Given the description of an element on the screen output the (x, y) to click on. 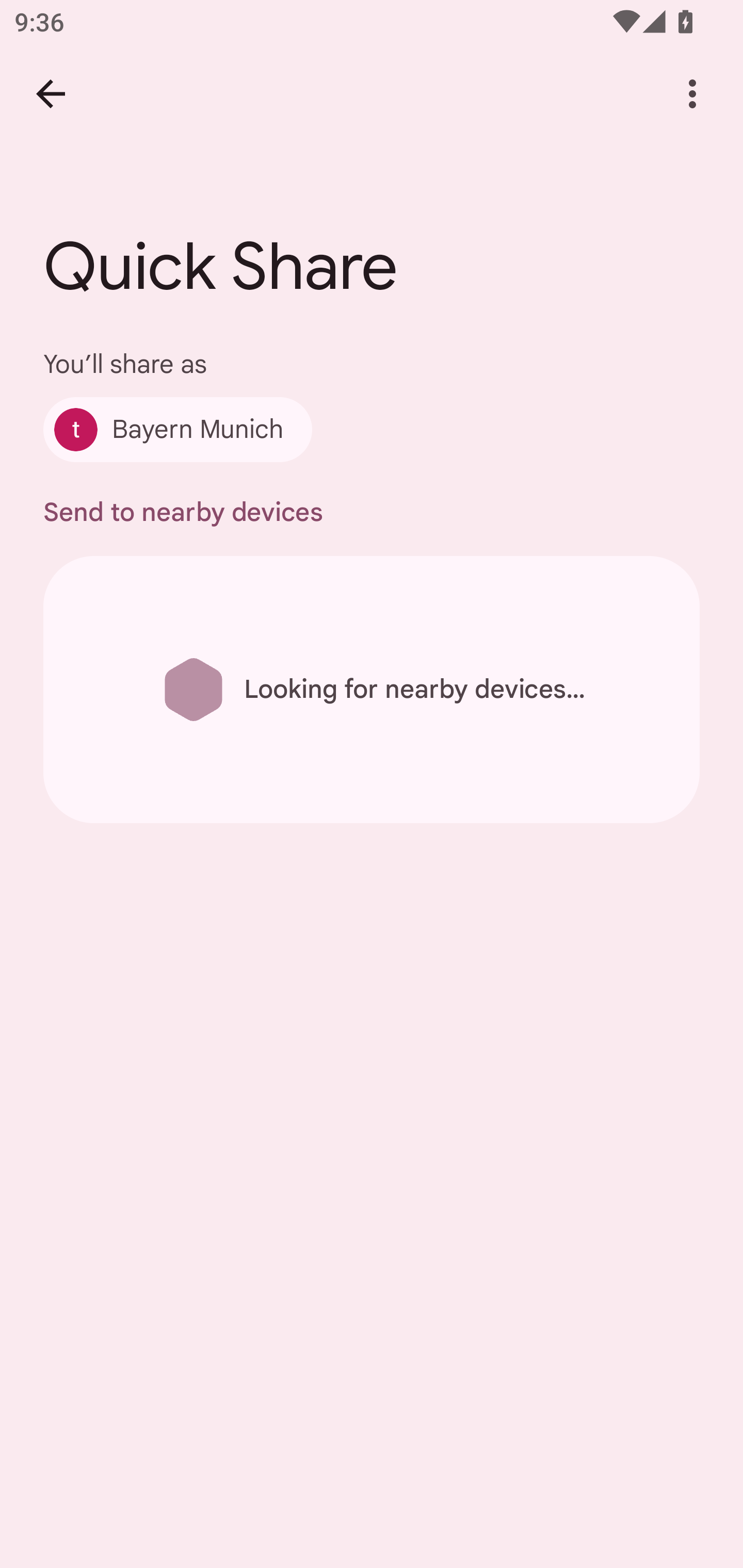
Back (50, 93)
More (692, 93)
Bayern Munich (177, 429)
